Given the description of an element on the screen output the (x, y) to click on. 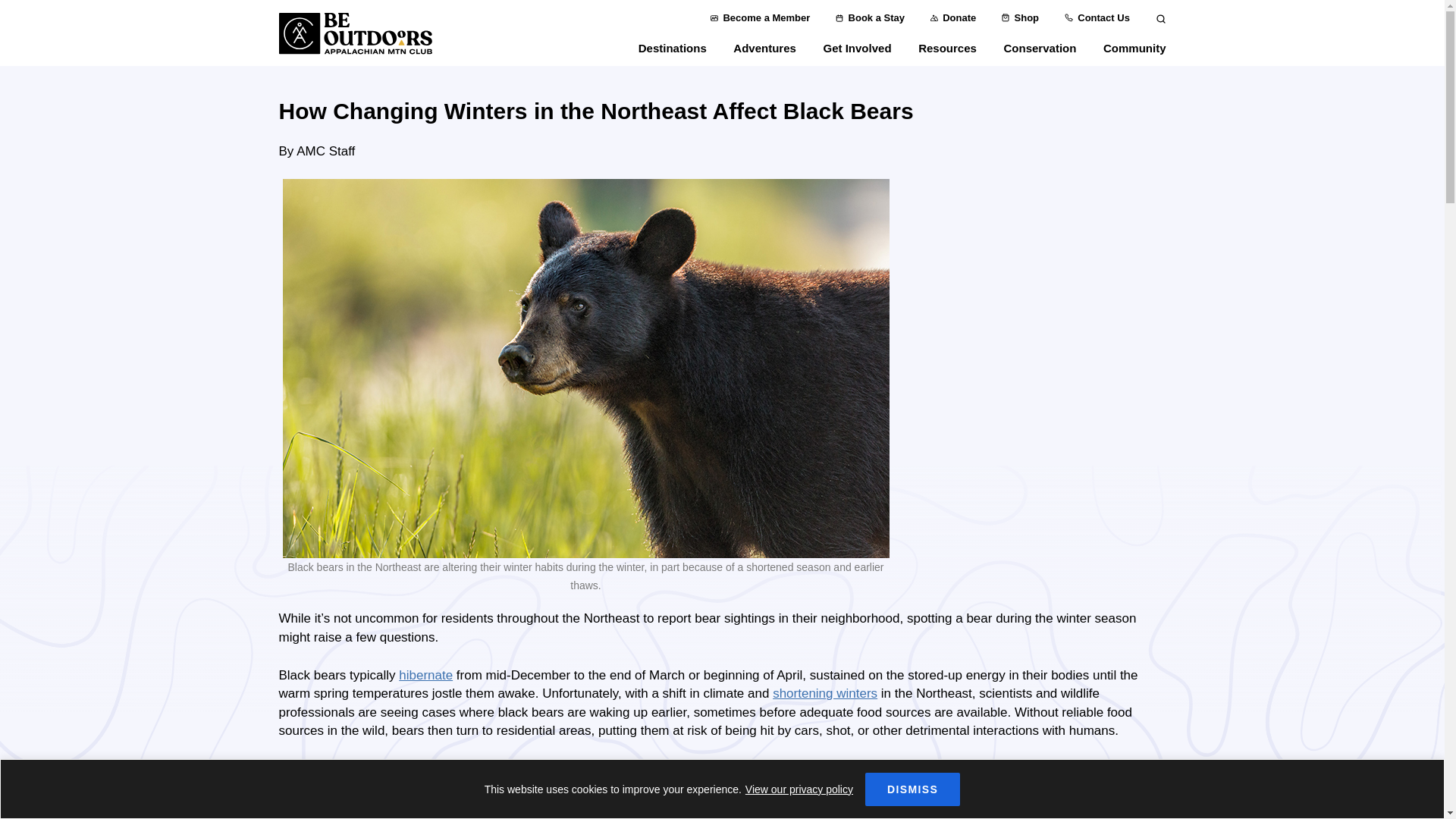
Shop (1020, 17)
Become a Member (760, 17)
DISMISS (911, 788)
Destinations (672, 53)
Contact Us (1096, 17)
Adventures (764, 53)
Book a Stay (869, 17)
Donate (953, 17)
View our privacy policy (798, 789)
